Given the description of an element on the screen output the (x, y) to click on. 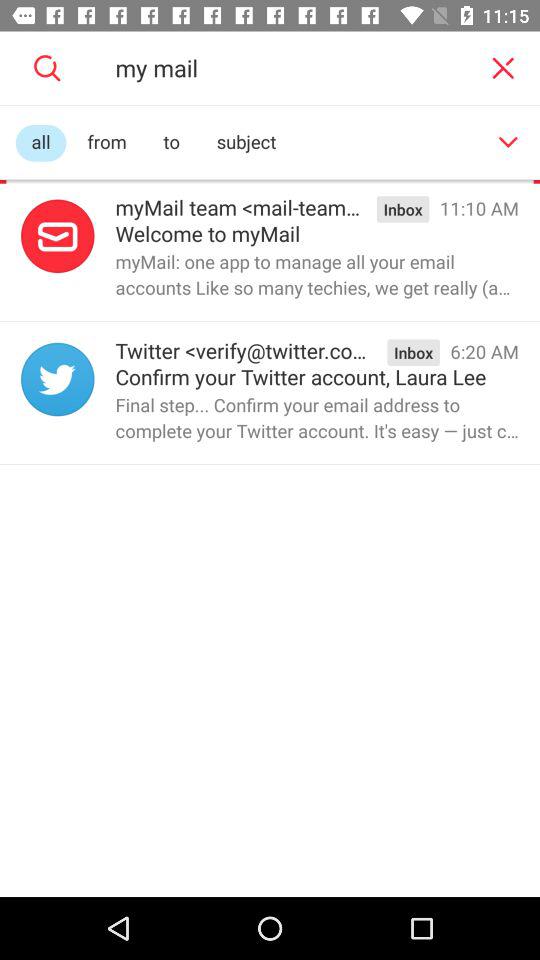
open icon next to the all icon (106, 142)
